Given the description of an element on the screen output the (x, y) to click on. 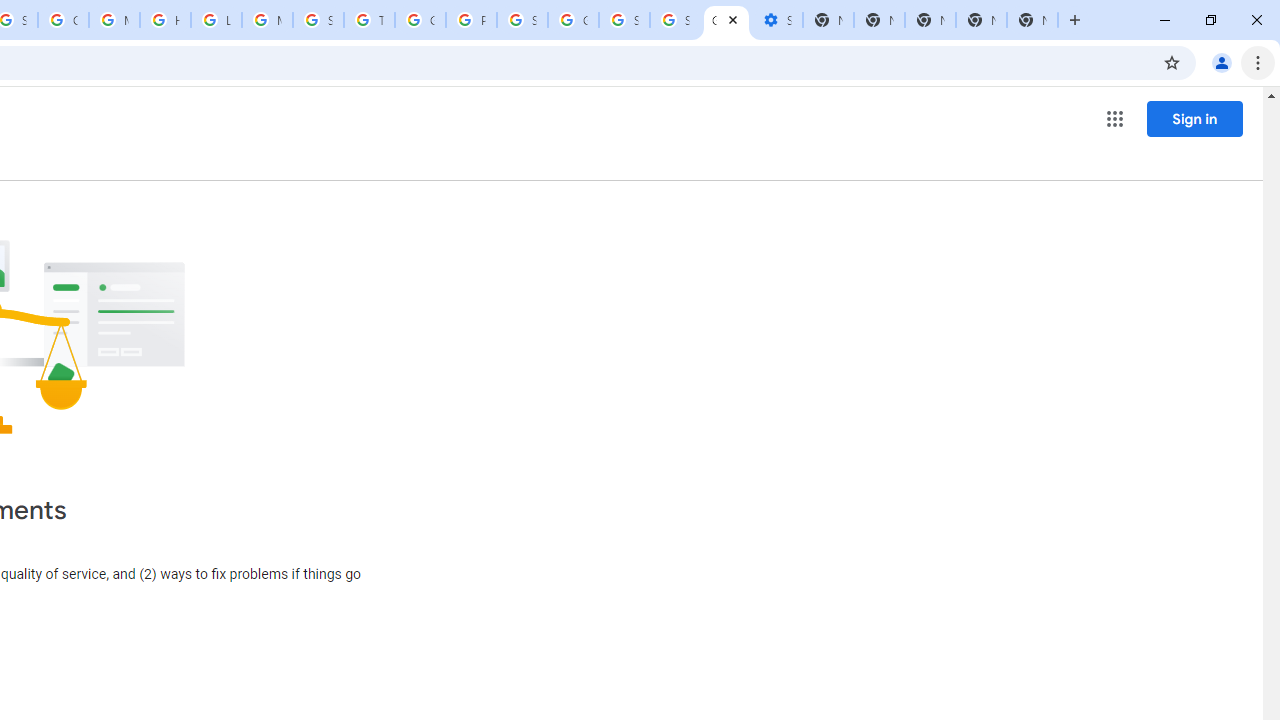
Settings - Performance (776, 20)
Sign in - Google Accounts (624, 20)
New Tab (1032, 20)
